Given the description of an element on the screen output the (x, y) to click on. 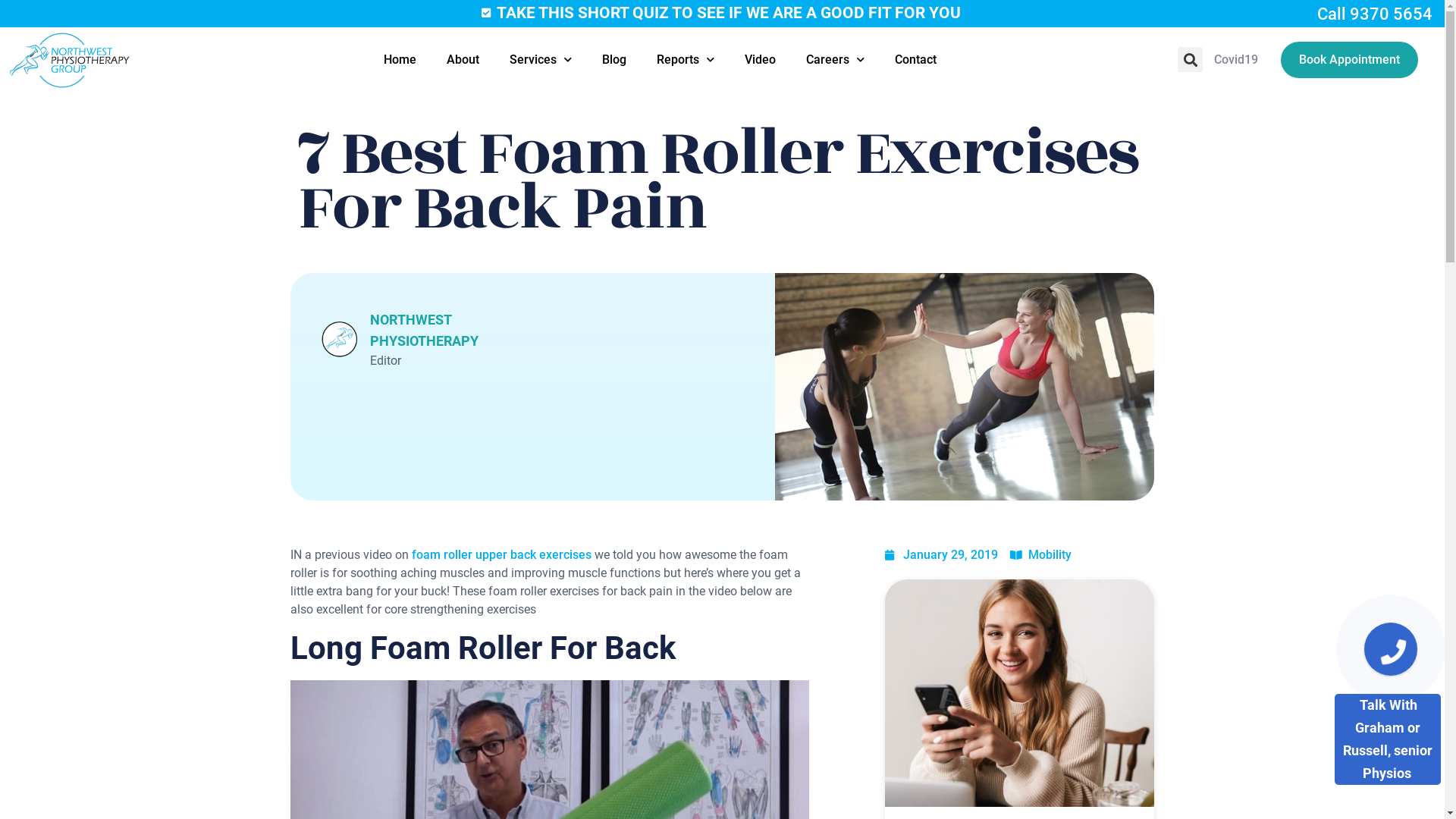
Contact Element type: text (915, 59)
Book Appointment Element type: text (1349, 58)
Services Element type: text (540, 59)
January 29, 2019 Element type: text (940, 555)
foam roller upper back exercises Element type: text (498, 554)
About Element type: text (462, 59)
Covid19 Element type: text (1235, 59)
Home Element type: text (399, 59)
Video Element type: text (759, 59)
Blog Element type: text (613, 59)
Reports Element type: text (685, 59)
Mobility Element type: text (1049, 554)
Call 9370 5654 Element type: text (1374, 13)
TAKE THIS SHORT QUIZ TO SEE IF WE ARE A GOOD FIT FOR YOU Element type: text (719, 12)
Careers Element type: text (834, 59)
